Given the description of an element on the screen output the (x, y) to click on. 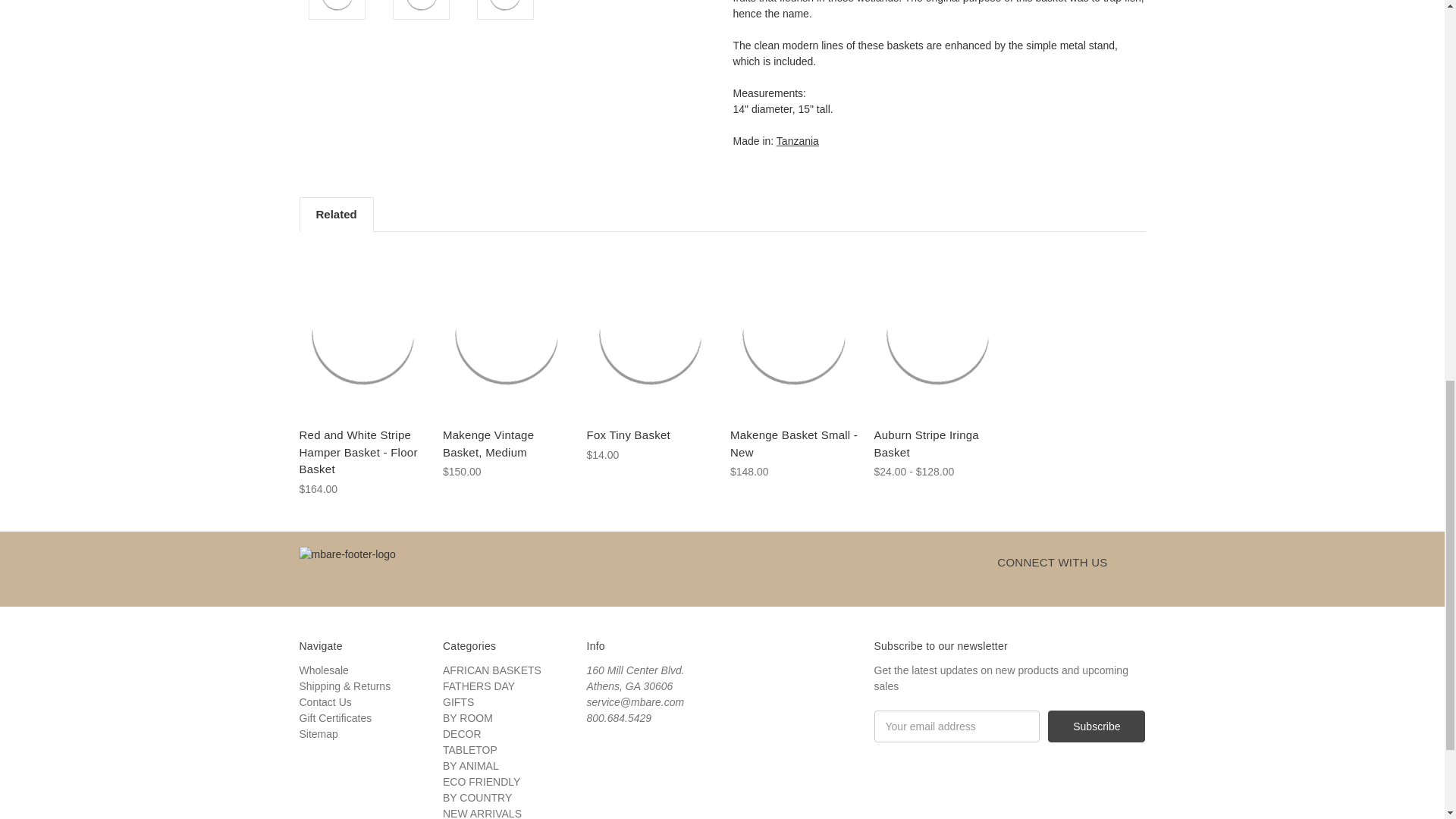
Subscribe (1096, 726)
Fish trap basket with metal stand included. (422, 6)
Fishtrap basket from Zambia (337, 6)
Detail of weaving of fishtrap basket. (505, 6)
